Given the description of an element on the screen output the (x, y) to click on. 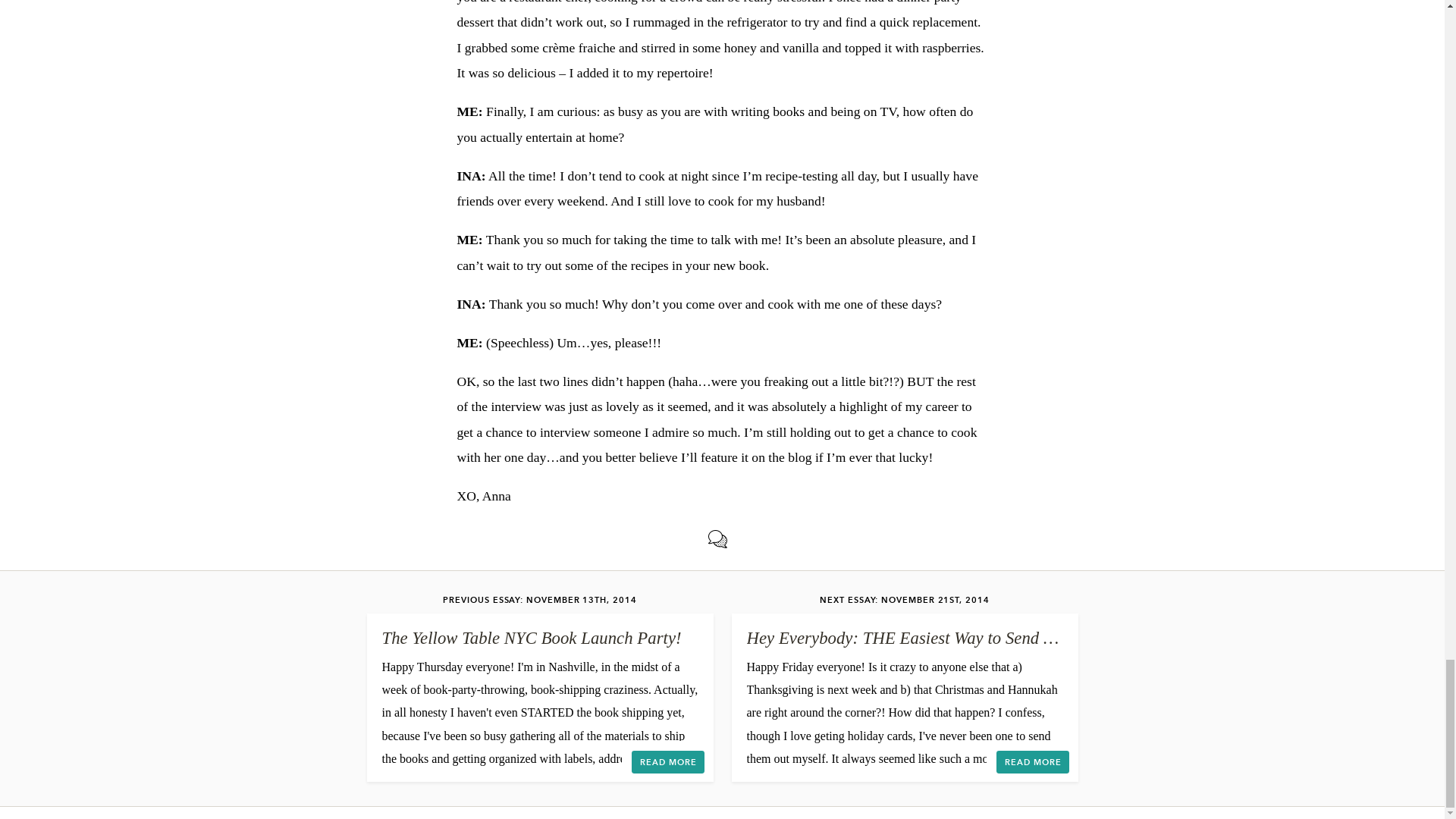
NEXT ESSAY: NOVEMBER 21ST, 2014 (904, 599)
PREVIOUS ESSAY: NOVEMBER 13TH, 2014 (539, 599)
